Given the description of an element on the screen output the (x, y) to click on. 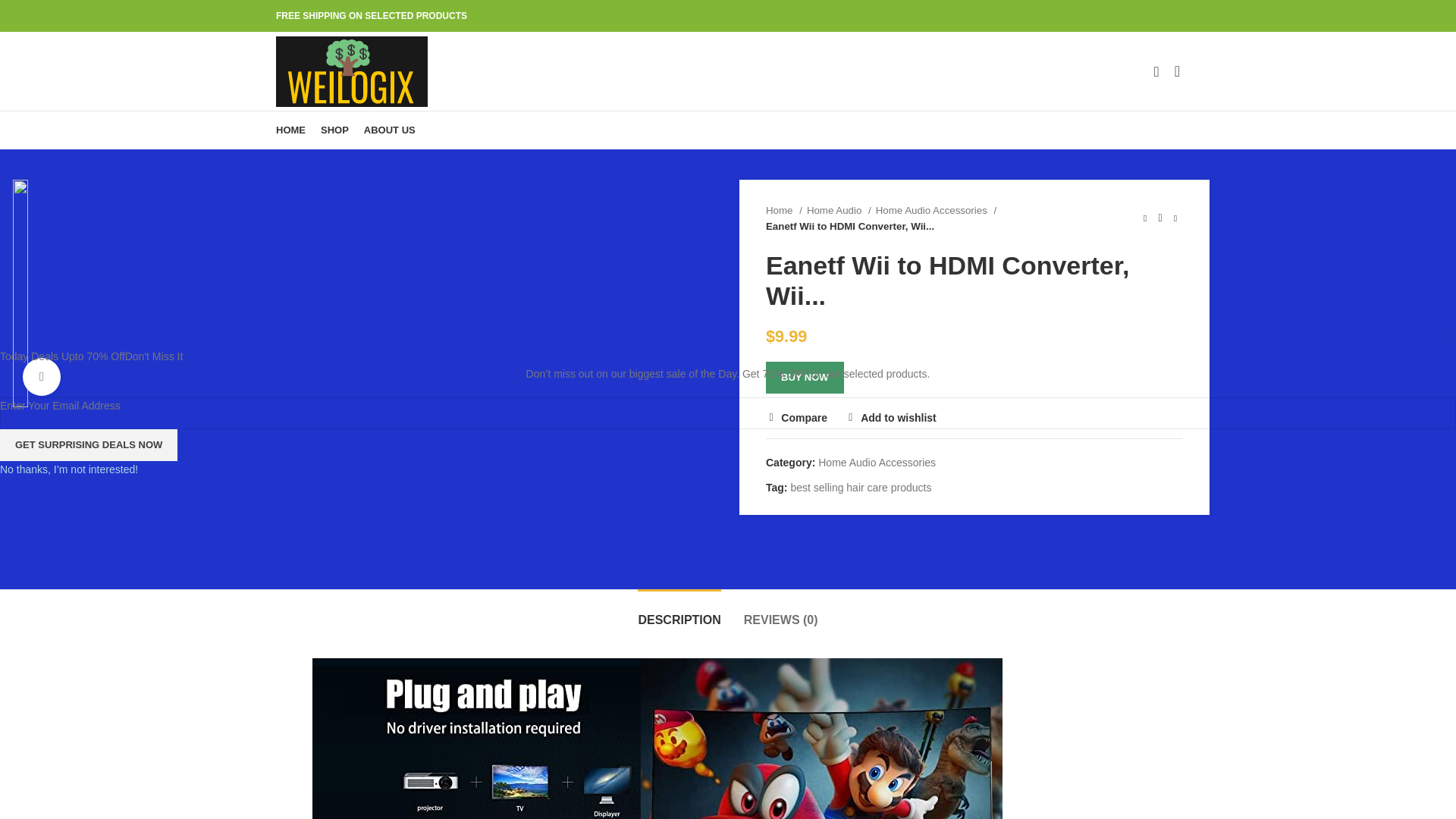
SHOP (334, 130)
best selling hair care products (860, 487)
Home Audio Accessories (877, 462)
ABOUT US (389, 130)
BUY NOW (804, 377)
HOME (290, 130)
Home Audio Accessories (935, 210)
Home (783, 210)
Add to wishlist (890, 417)
Home Audio (838, 210)
